Given the description of an element on the screen output the (x, y) to click on. 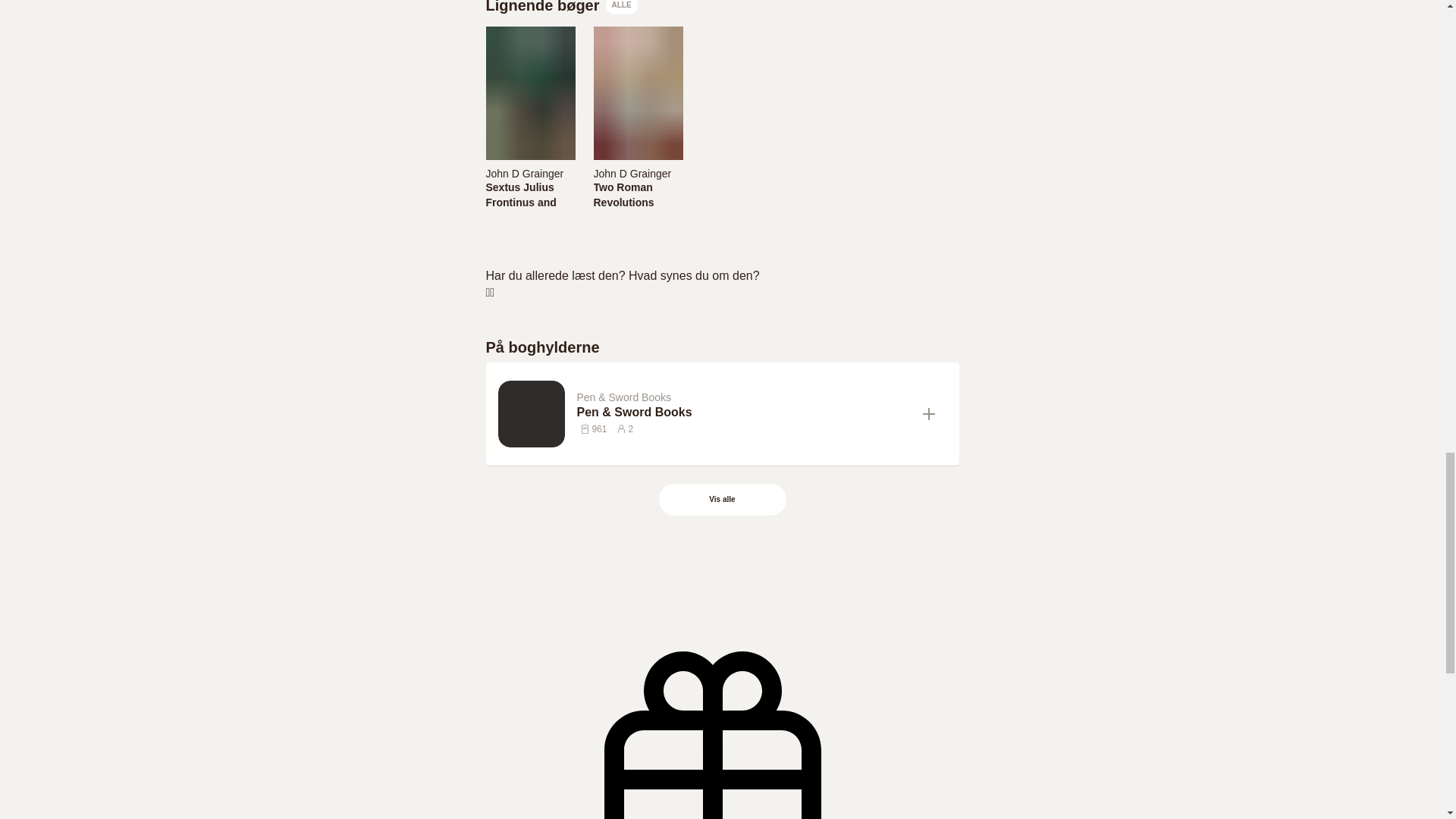
Sextus Julius Frontinus and the Roman Empire (528, 209)
John D Grainger (528, 172)
Sextus Julius Frontinus and the Roman Empire (528, 194)
John D Grainger (523, 173)
John D Grainger (631, 173)
Sextus Julius Frontinus and the Roman Empire (528, 194)
Two Roman Revolutions (636, 194)
John D Grainger (636, 172)
Two Roman Revolutions (636, 194)
Vis alle (722, 499)
Vis alle (722, 499)
